Given the description of an element on the screen output the (x, y) to click on. 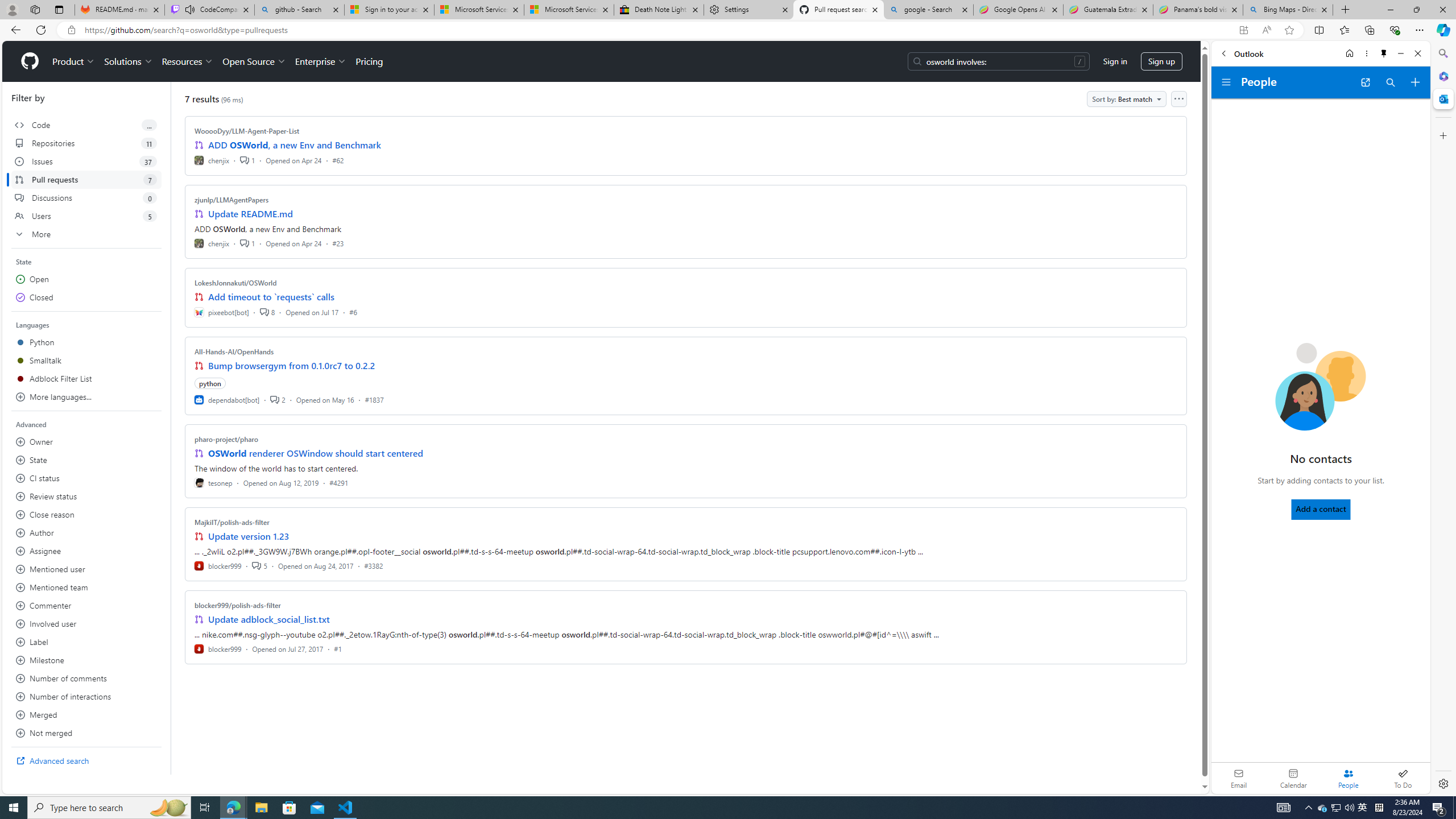
Solutions (128, 60)
dependabot[bot] (227, 398)
Sign in to your account (389, 9)
Open column options (1178, 98)
#1 (337, 648)
Sort by: Best match (1126, 98)
